Given the description of an element on the screen output the (x, y) to click on. 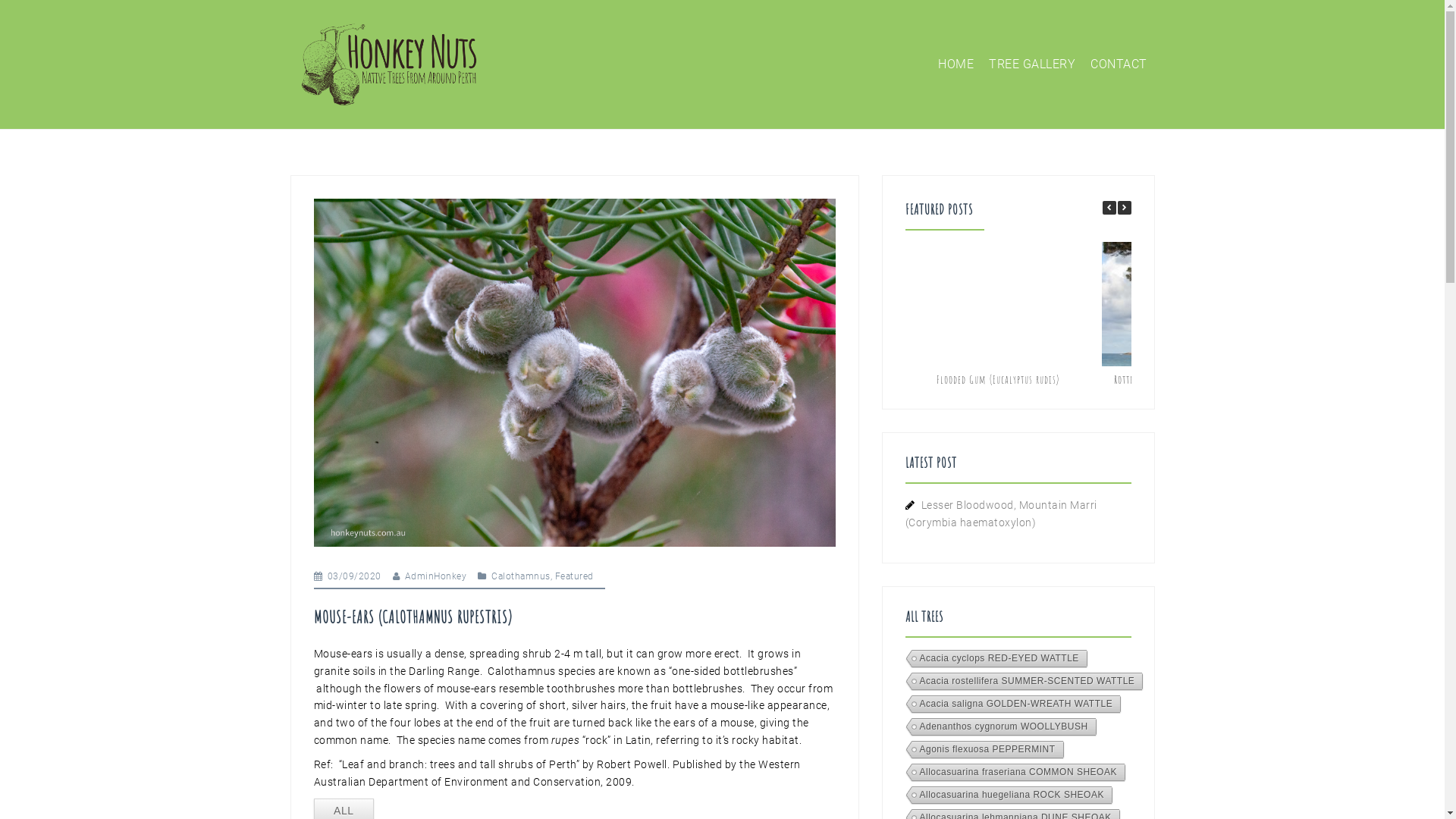
Rottnest tea-tree (Melaleuca lanceolata) Element type: text (1194, 379)
Acacia rostellifera SUMMER-SCENTED WATTLE Element type: text (1022, 681)
Flooded Gum (Eucalyptus rudis) Element type: text (997, 379)
Lesser Bloodwood, Mountain Marri (Corymbia haematoxylon) Element type: text (1001, 513)
Featured Element type: text (574, 576)
Acacia saligna GOLDEN-WREATH WATTLE Element type: text (1011, 704)
CONTACT Element type: text (1118, 64)
Agonis flexuosa PEPPERMINT Element type: text (983, 749)
HOME Element type: text (955, 64)
AdminHonkey Element type: text (435, 576)
TREE GALLERY Element type: text (1031, 64)
Allocasuarina fraseriana COMMON SHEOAK Element type: text (1013, 772)
Search Element type: text (42, 20)
Previous Element type: hover (1109, 207)
Honkey Nuts Element type: hover (388, 63)
03/09/2020 Element type: text (354, 576)
Adenanthos cygnorum WOOLLYBUSH Element type: text (999, 727)
Allocasuarina huegeliana ROCK SHEOAK Element type: text (1007, 795)
Acacia cyclops RED-EYED WATTLE Element type: text (994, 658)
Next Element type: hover (1124, 207)
Calothamnus Element type: text (520, 576)
